Given the description of an element on the screen output the (x, y) to click on. 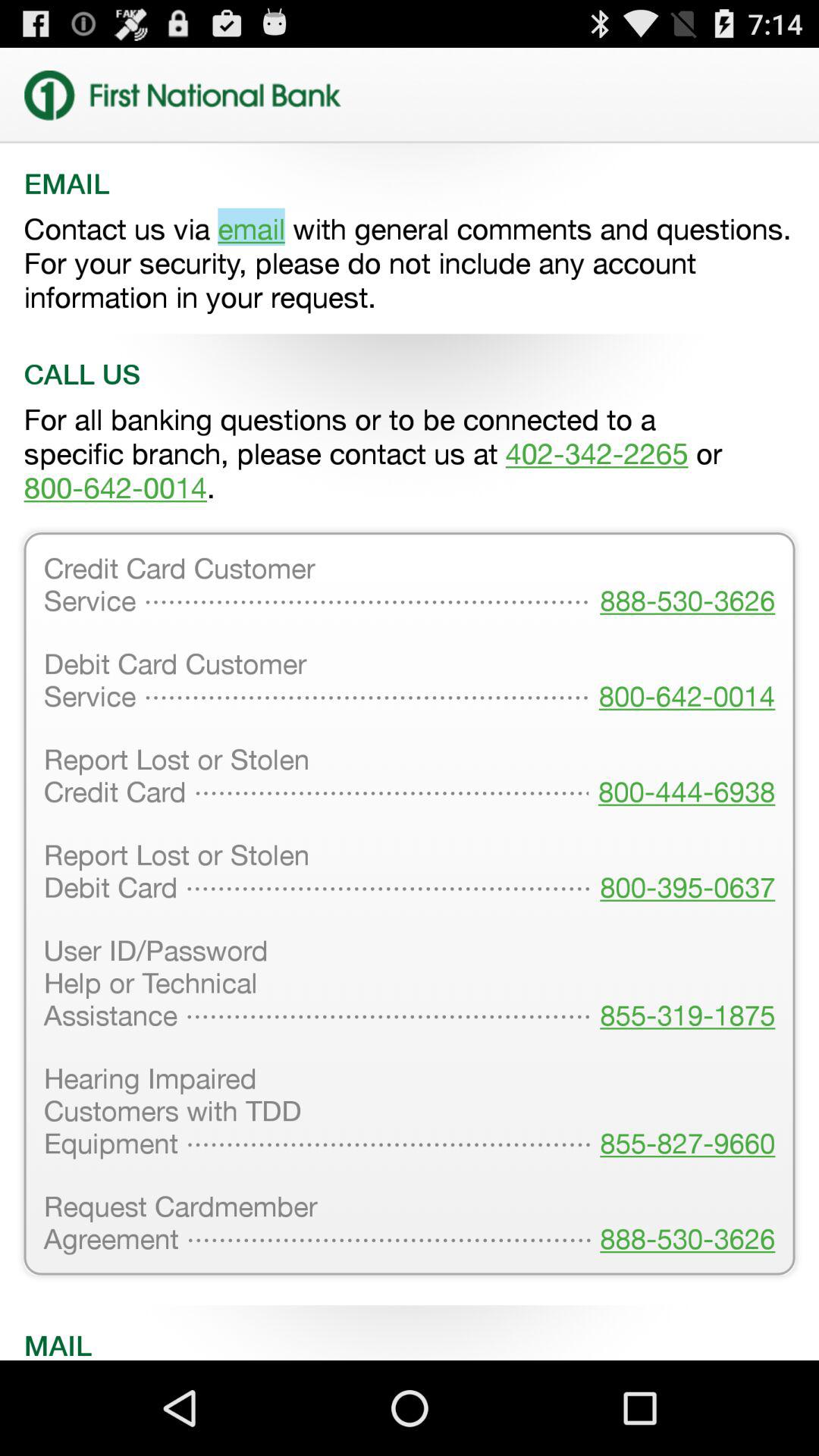
turn off the icon below the report lost or item (682, 984)
